Given the description of an element on the screen output the (x, y) to click on. 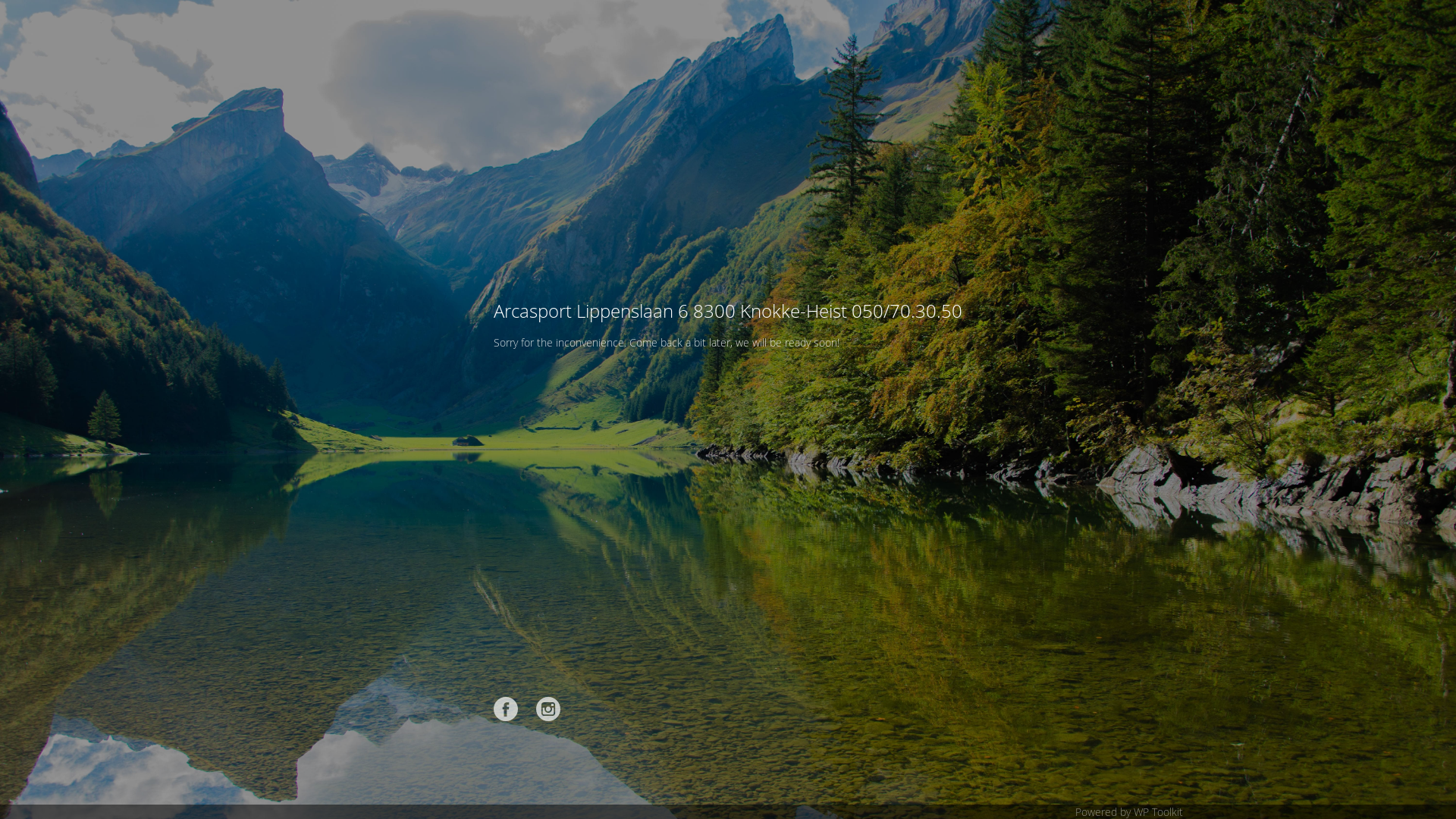
Facebook Element type: hover (505, 708)
Instagram Element type: hover (548, 708)
